Given the description of an element on the screen output the (x, y) to click on. 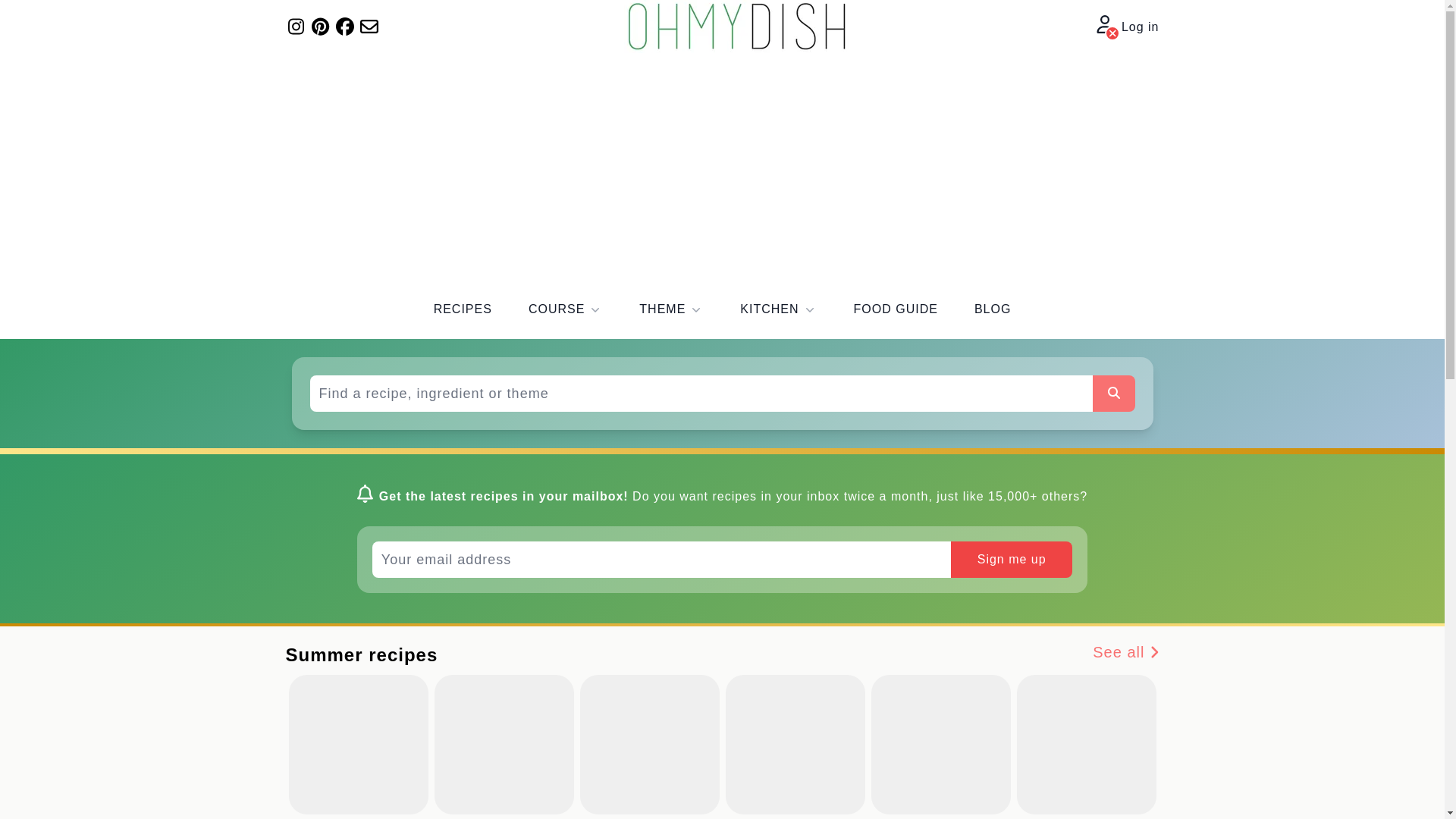
COURSE (565, 309)
See all (1125, 654)
THEME (671, 309)
Sign me up (1010, 559)
Log in (1127, 26)
Recipes (462, 309)
BLOG (992, 309)
FOOD GUIDE (895, 309)
KITCHEN (777, 309)
RECIPES (462, 309)
